Given the description of an element on the screen output the (x, y) to click on. 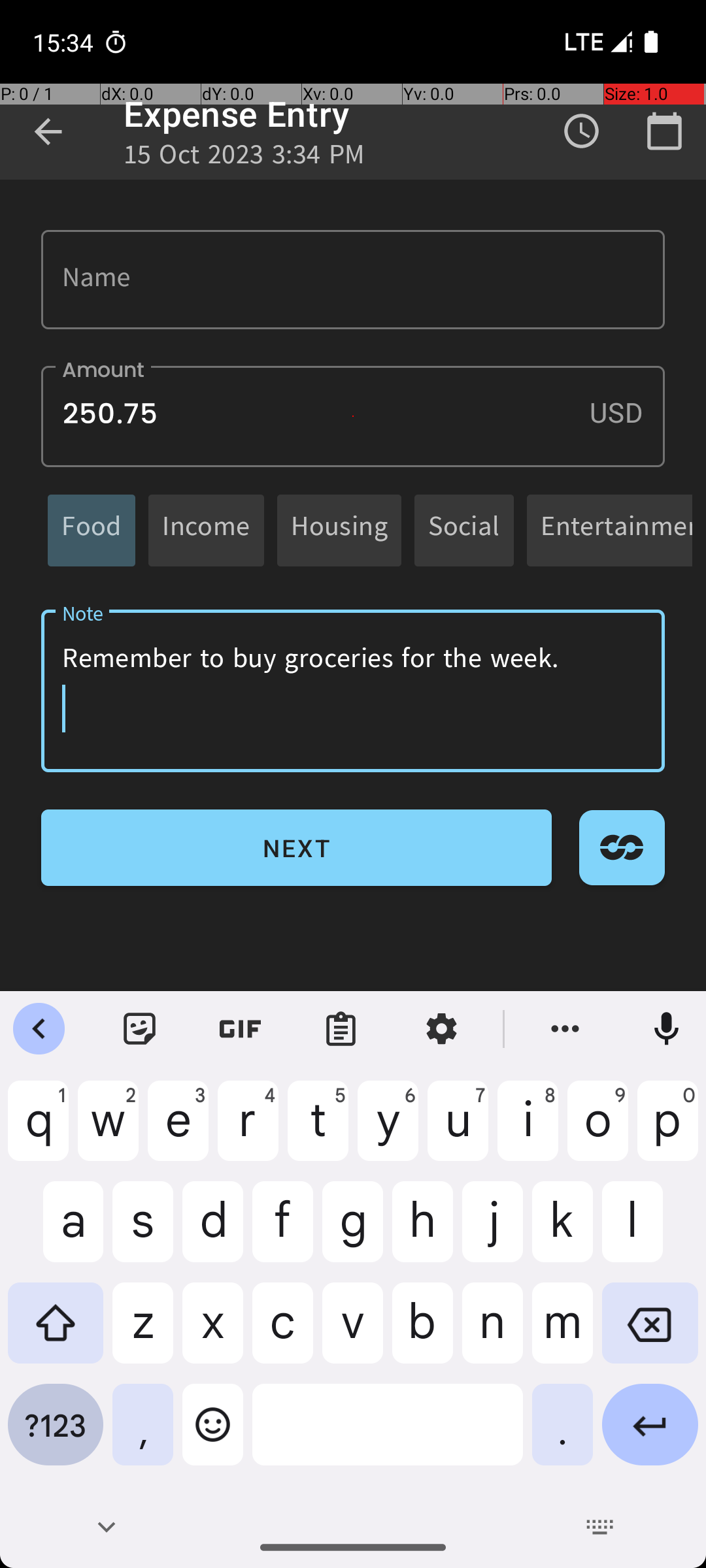
250.75 Element type: android.widget.EditText (352, 416)
Remember to buy groceries for the week.
 Element type: android.widget.EditText (352, 690)
NEXT Element type: android.widget.Button (296, 847)
